Given the description of an element on the screen output the (x, y) to click on. 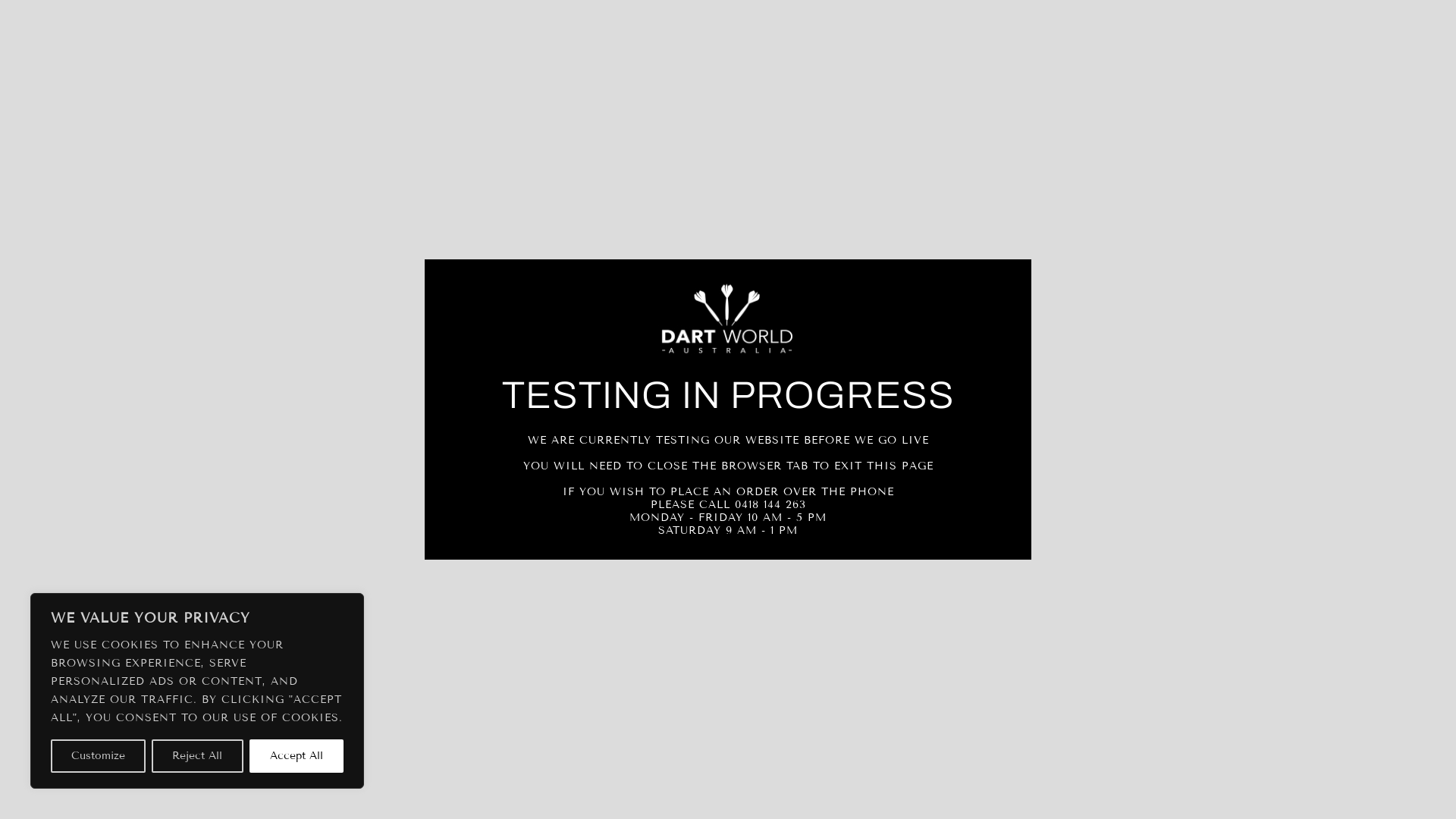
Accept All Element type: text (296, 755)
Customize Element type: text (97, 755)
Reject All Element type: text (196, 755)
